Given the description of an element on the screen output the (x, y) to click on. 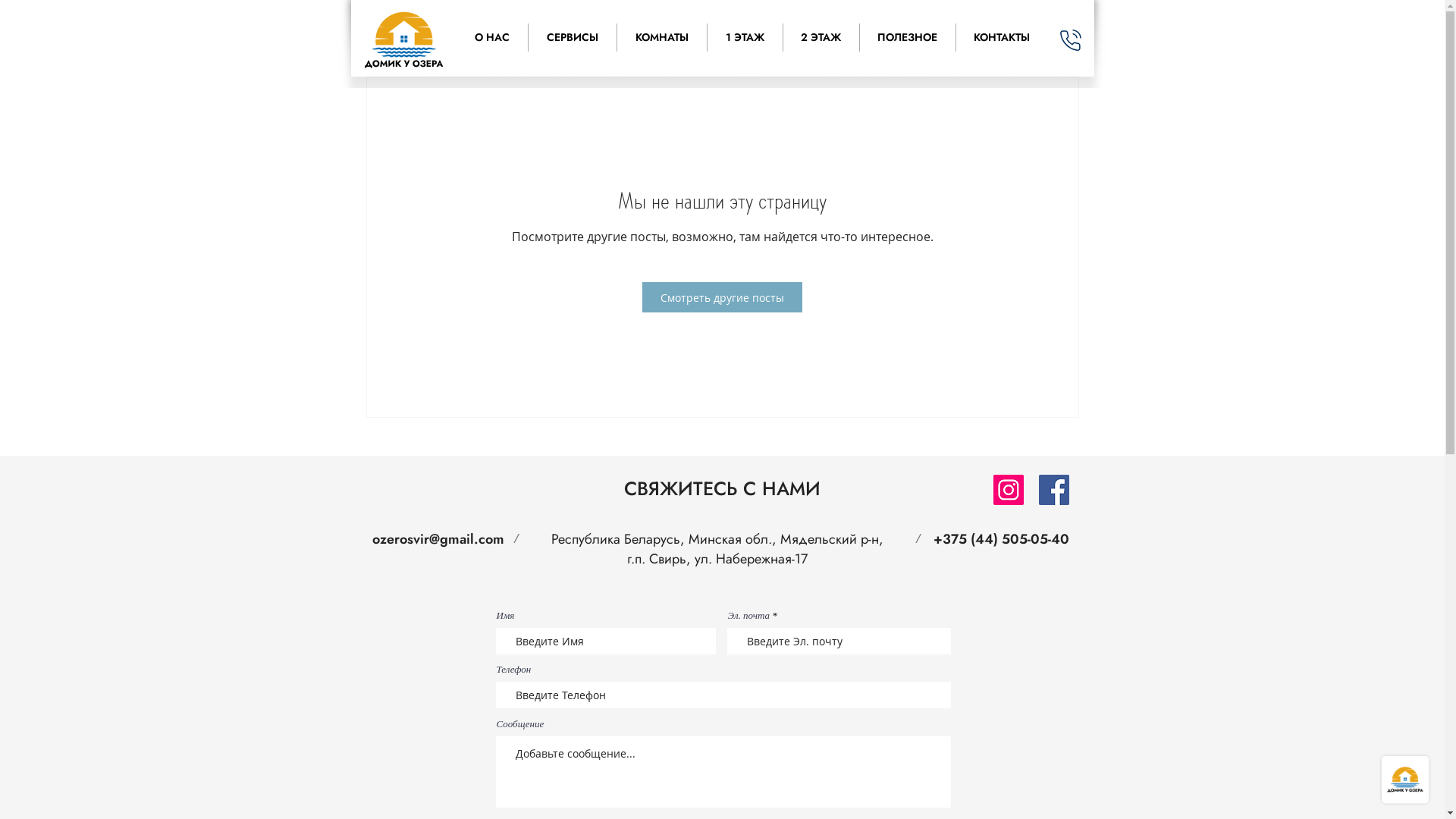
ozerosvir@gmail.com Element type: text (437, 539)
_edited.png Element type: hover (403, 39)
